Given the description of an element on the screen output the (x, y) to click on. 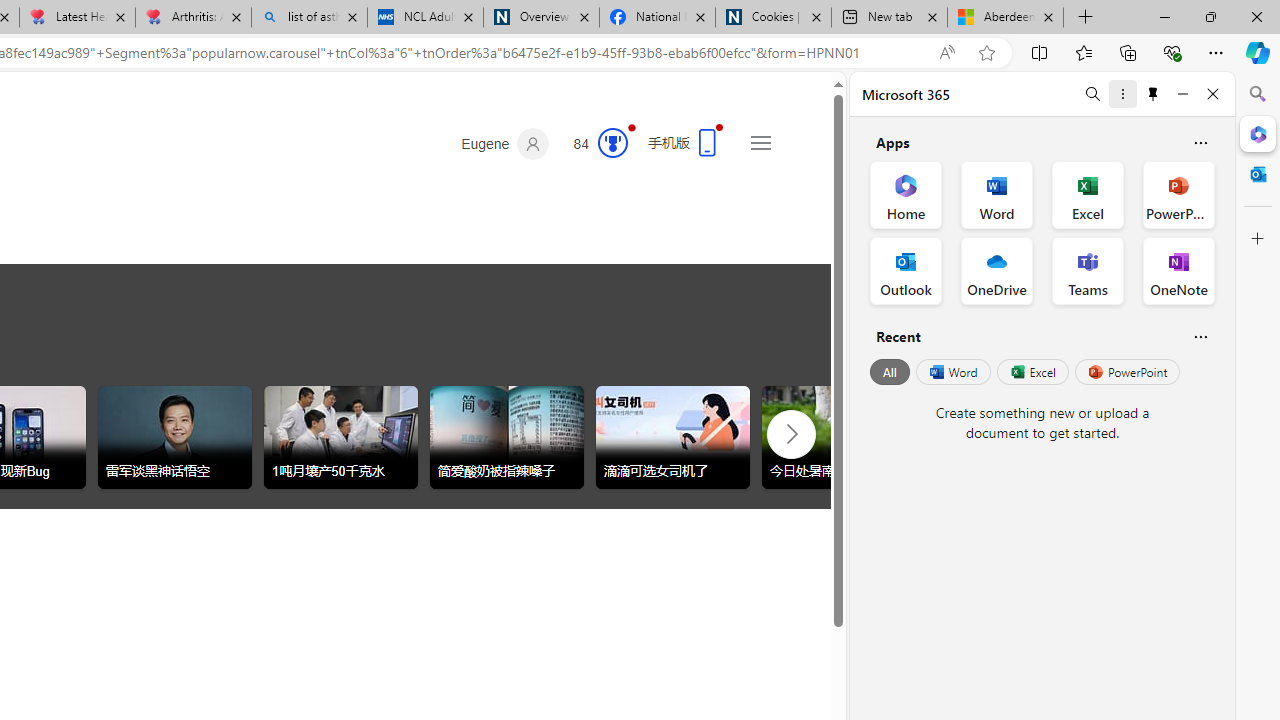
Click to scroll right (790, 432)
Close Customize pane (1258, 239)
Close Outlook pane (1258, 174)
PowerPoint (1127, 372)
Cookies | About | NICE (772, 17)
Word Office App (996, 194)
Eugene (505, 143)
Animation (632, 127)
